Given the description of an element on the screen output the (x, y) to click on. 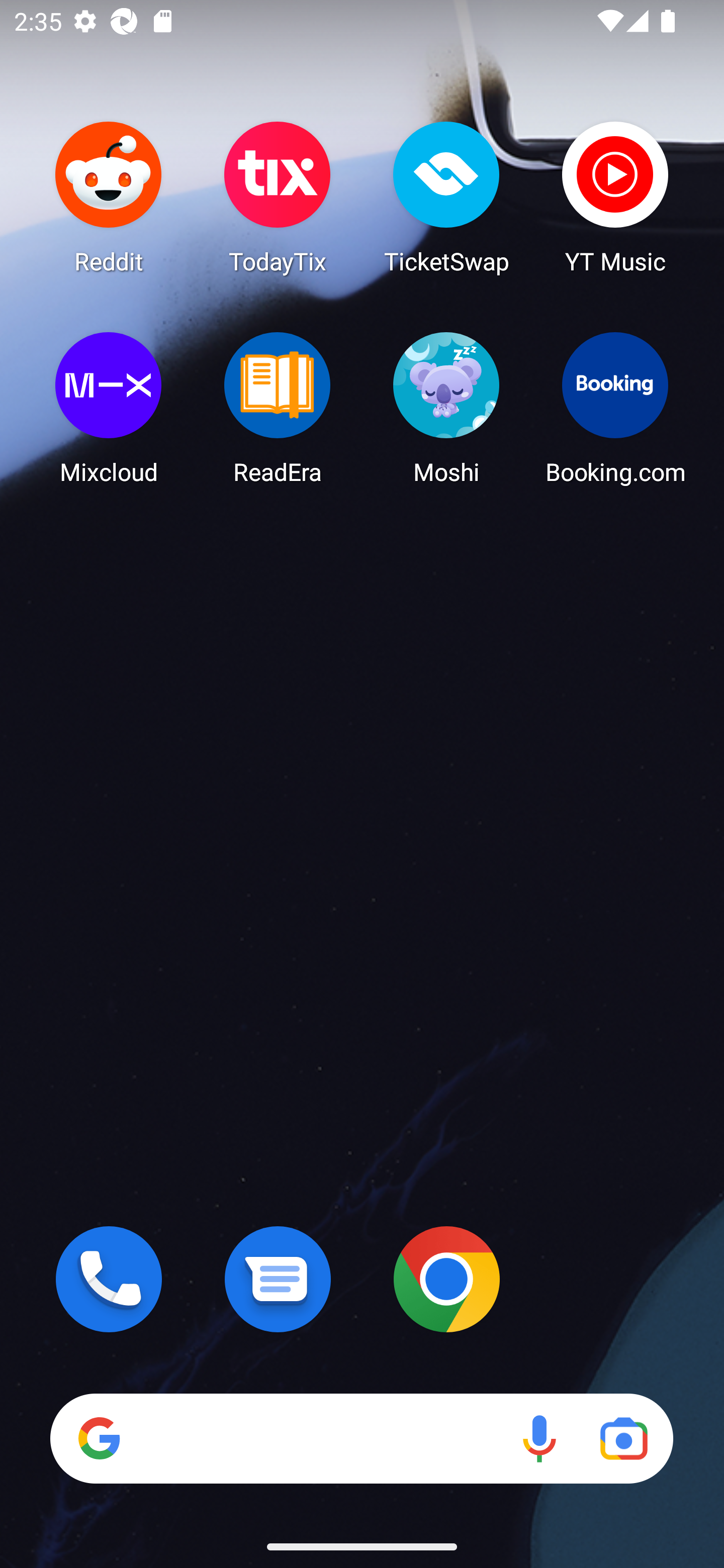
Reddit (108, 196)
TodayTix (277, 196)
TicketSwap (445, 196)
YT Music (615, 196)
Mixcloud (108, 407)
ReadEra (277, 407)
Moshi (445, 407)
Booking.com (615, 407)
Phone (108, 1279)
Messages (277, 1279)
Chrome (446, 1279)
Search Voice search Google Lens (361, 1438)
Voice search (539, 1438)
Google Lens (623, 1438)
